Given the description of an element on the screen output the (x, y) to click on. 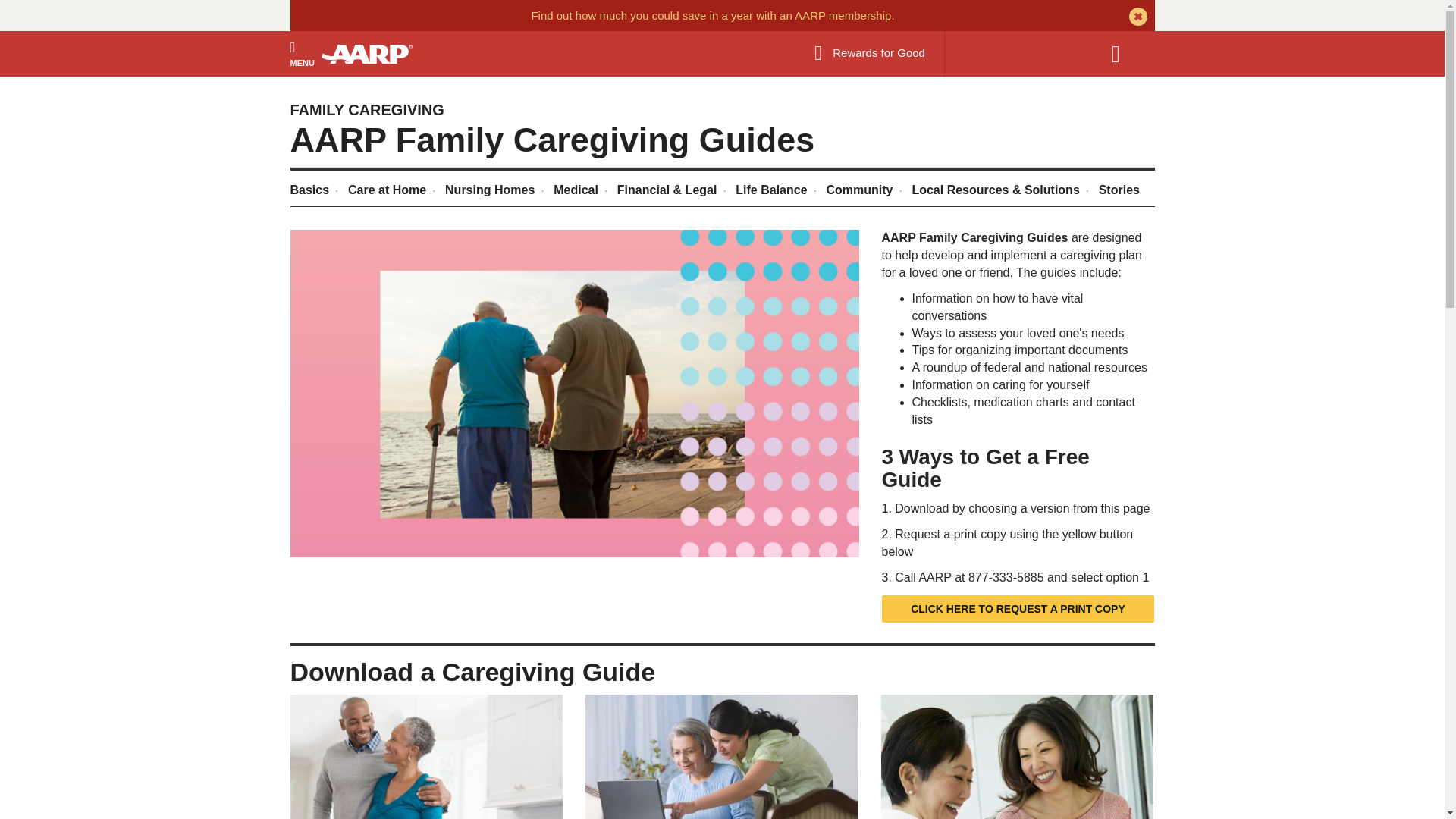
Search (1123, 53)
aarp membership savings (712, 15)
Homepage (373, 52)
